Given the description of an element on the screen output the (x, y) to click on. 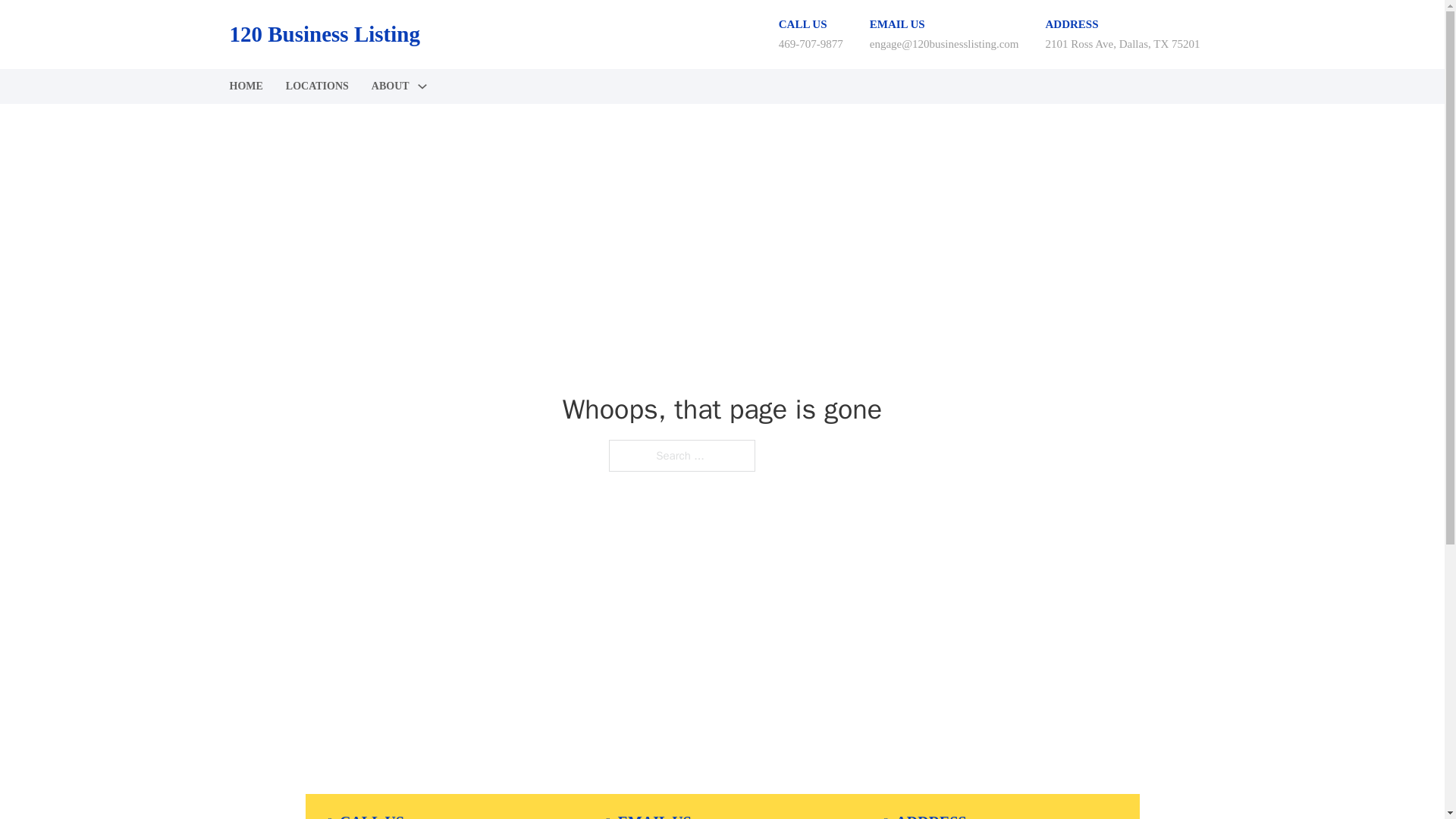
HOME (245, 85)
469-707-9877 (810, 43)
120 Business Listing (323, 34)
LOCATIONS (317, 85)
